Given the description of an element on the screen output the (x, y) to click on. 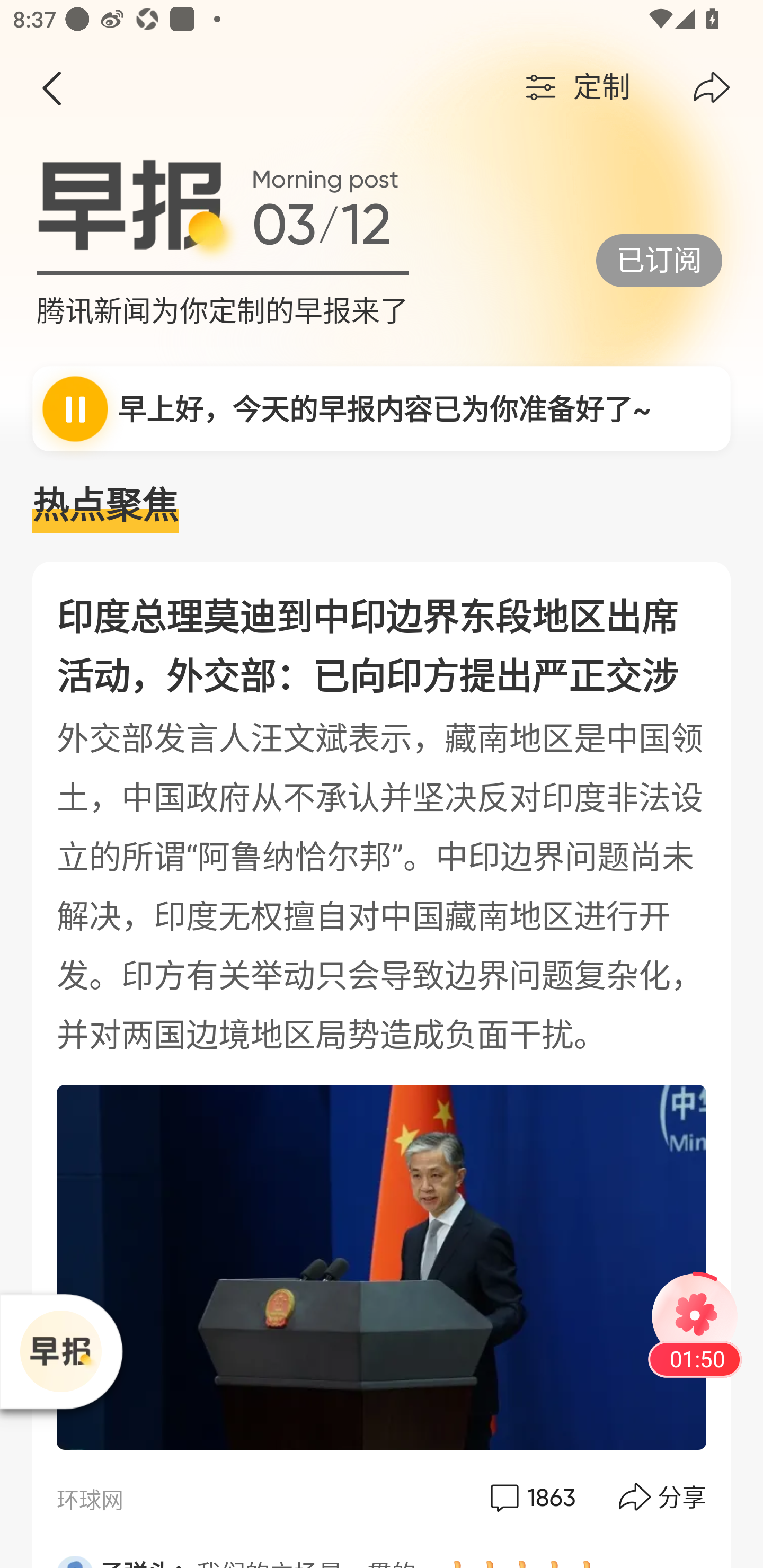
 (50, 87)
 定制 (575, 87)
 (711, 87)
已订阅 (658, 259)
 早上好，今天的早报内容已为你准备好了~ (381, 407)
热点聚焦 (381, 506)
播放器 (60, 1351)
评论  1863 (531, 1497)
 分享 (663, 1497)
